Given the description of an element on the screen output the (x, y) to click on. 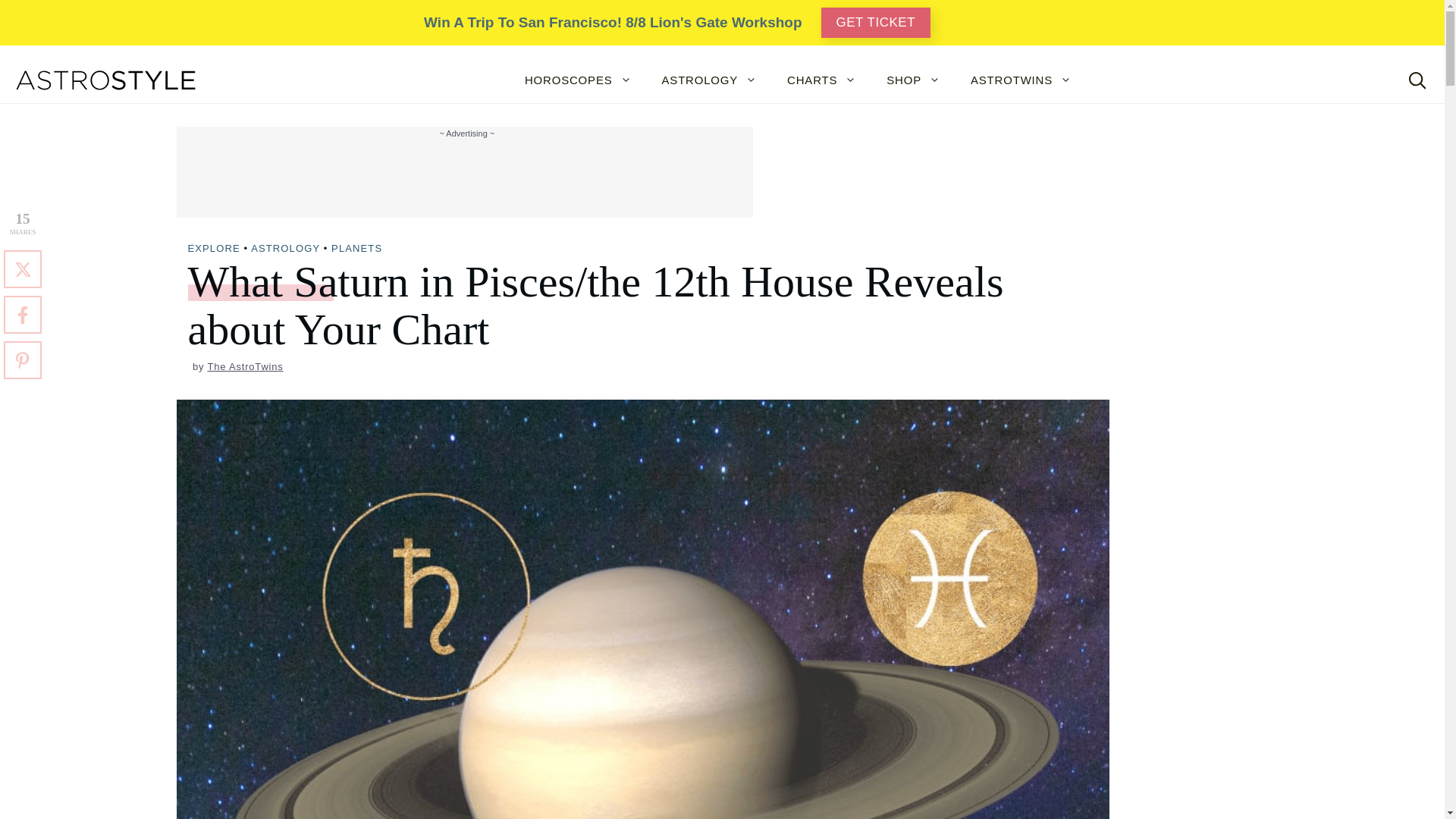
CHARTS (820, 80)
ASTROLOGY (709, 80)
View all posts by The AstroTwins (245, 366)
GET TICKET (876, 22)
HOROSCOPES (577, 80)
